Given the description of an element on the screen output the (x, y) to click on. 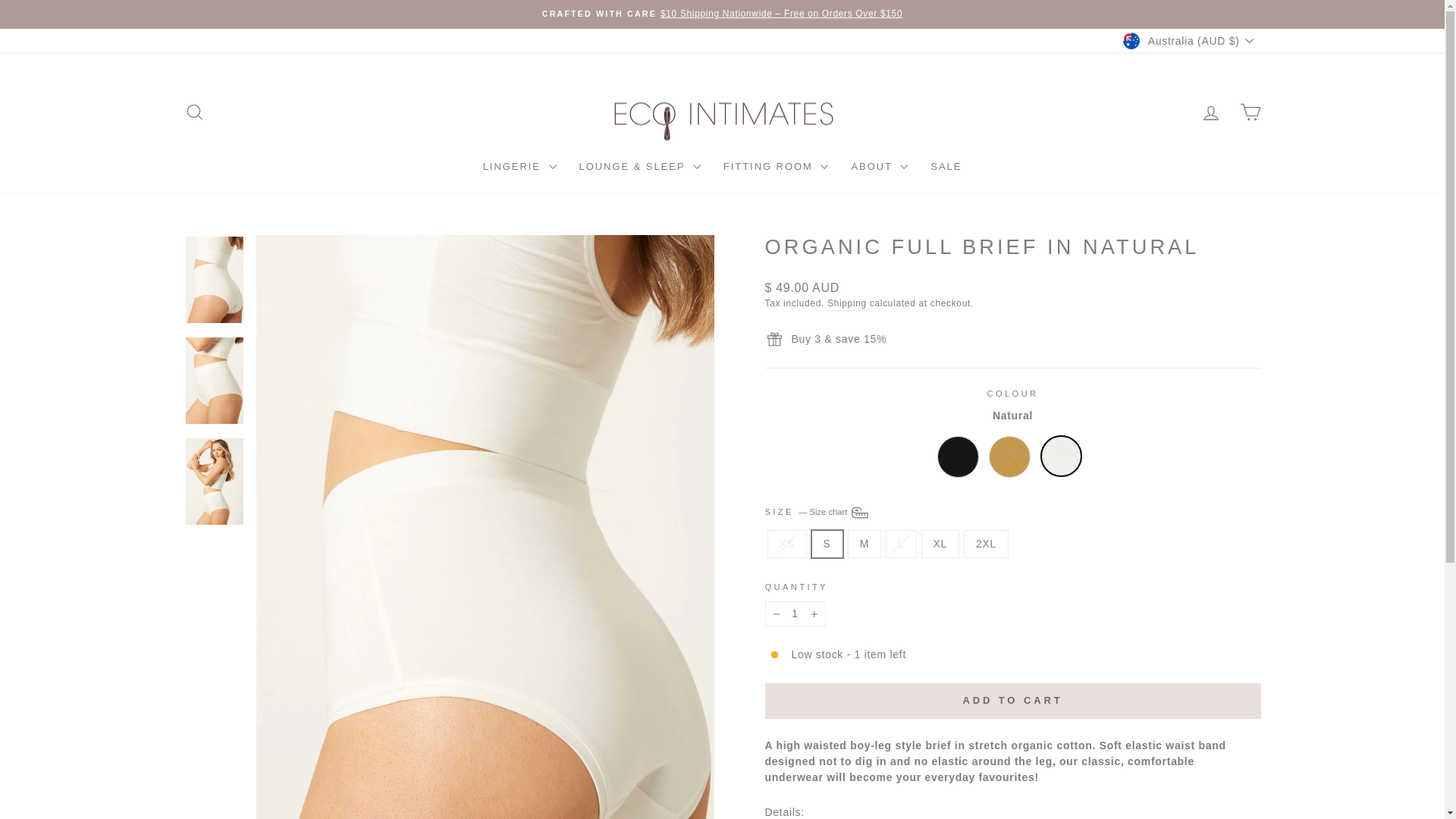
ACCOUNT (1210, 112)
1 (794, 613)
ICON-SEARCH (194, 111)
